Given the description of an element on the screen output the (x, y) to click on. 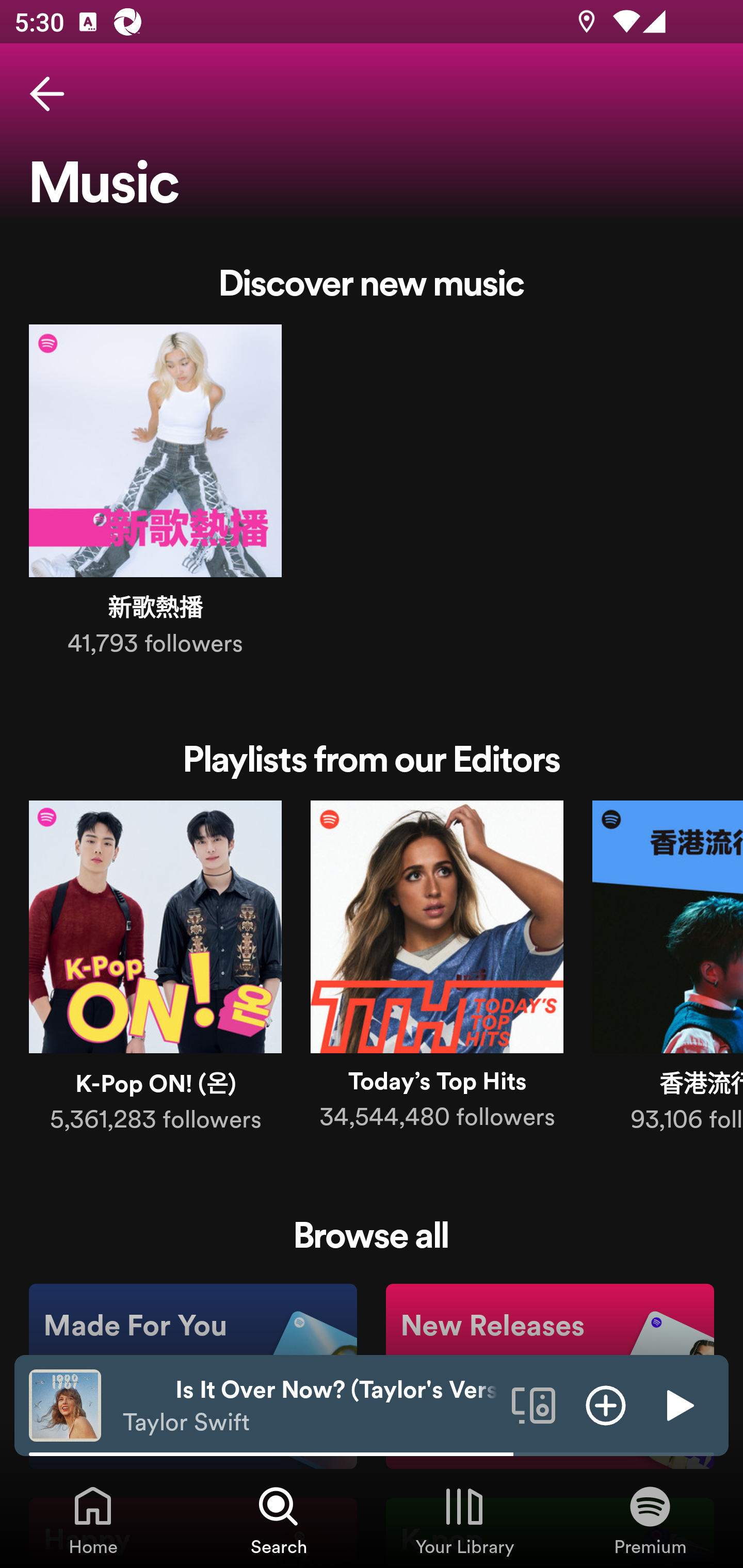
Back (46, 93)
新歌熱播
41,793 followers 新歌熱播 41,793 followers (154, 494)
香港流行樂
93,106 followers 香港流行樂 93,106 followers (667, 971)
The cover art of the currently playing track (64, 1404)
Connect to a device. Opens the devices menu (533, 1404)
Add item (605, 1404)
Play (677, 1404)
Home, Tab 1 of 4 Home Home (92, 1519)
Search, Tab 2 of 4 Search Search (278, 1519)
Your Library, Tab 3 of 4 Your Library Your Library (464, 1519)
Premium, Tab 4 of 4 Premium Premium (650, 1519)
